Given the description of an element on the screen output the (x, y) to click on. 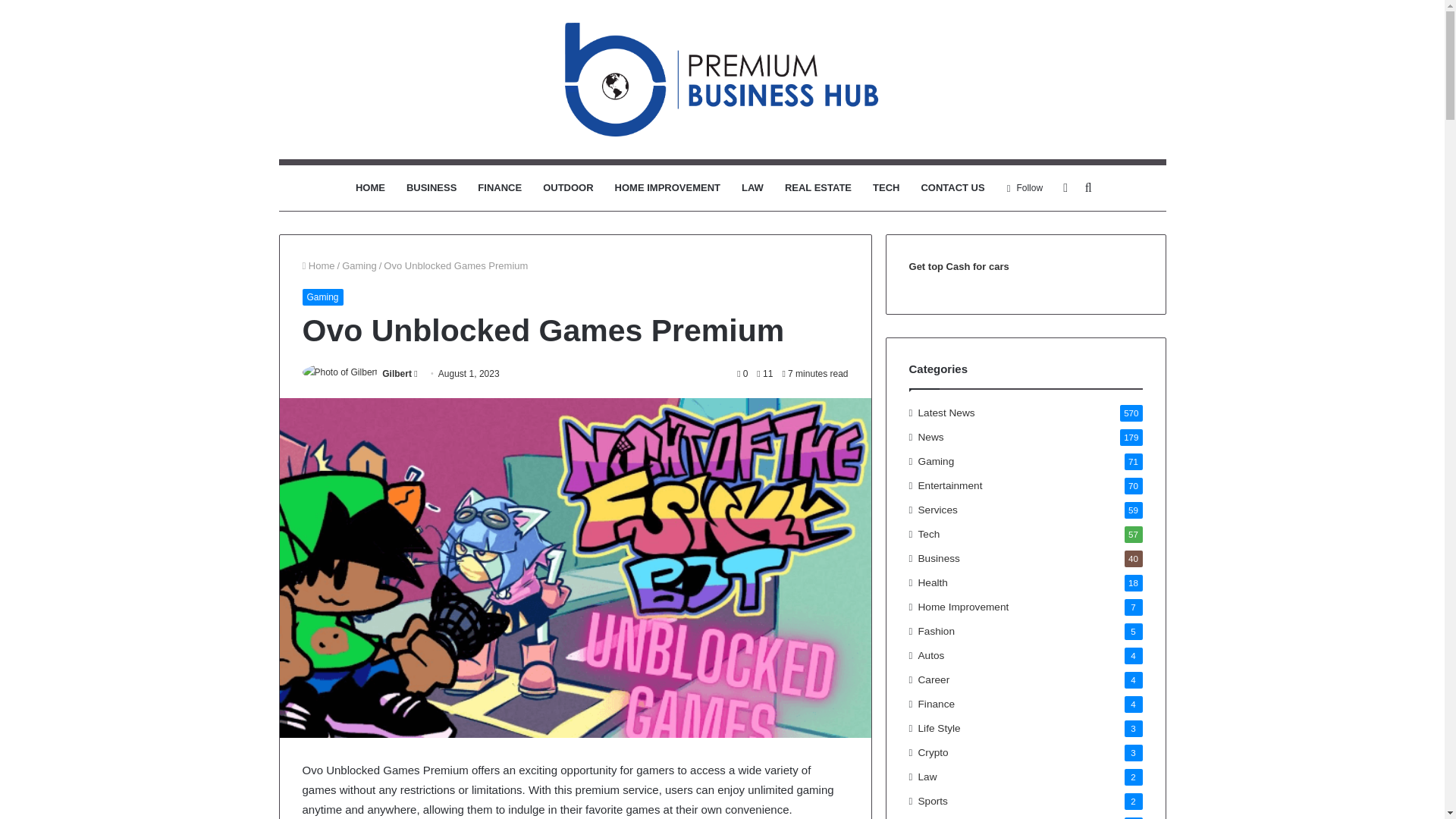
REAL ESTATE (817, 187)
Gilbert (396, 373)
FINANCE (499, 187)
CONTACT US (952, 187)
Home (317, 265)
Premium Business Hub (721, 79)
BUSINESS (431, 187)
Gaming (321, 297)
Gaming (359, 265)
Gilbert (396, 373)
